Given the description of an element on the screen output the (x, y) to click on. 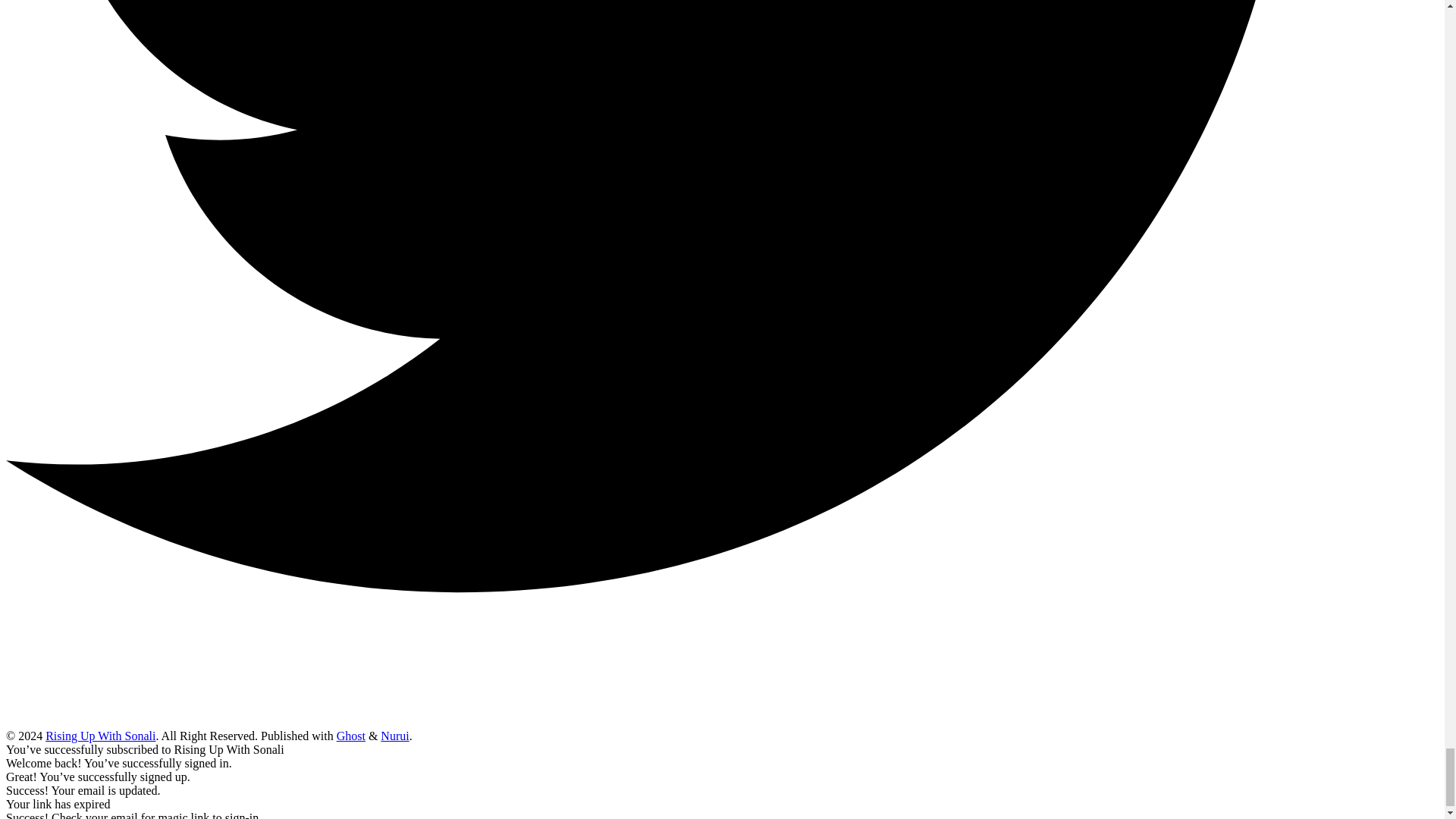
Nurui (394, 735)
Rising Up With Sonali (100, 735)
Ghost (350, 735)
